Given the description of an element on the screen output the (x, y) to click on. 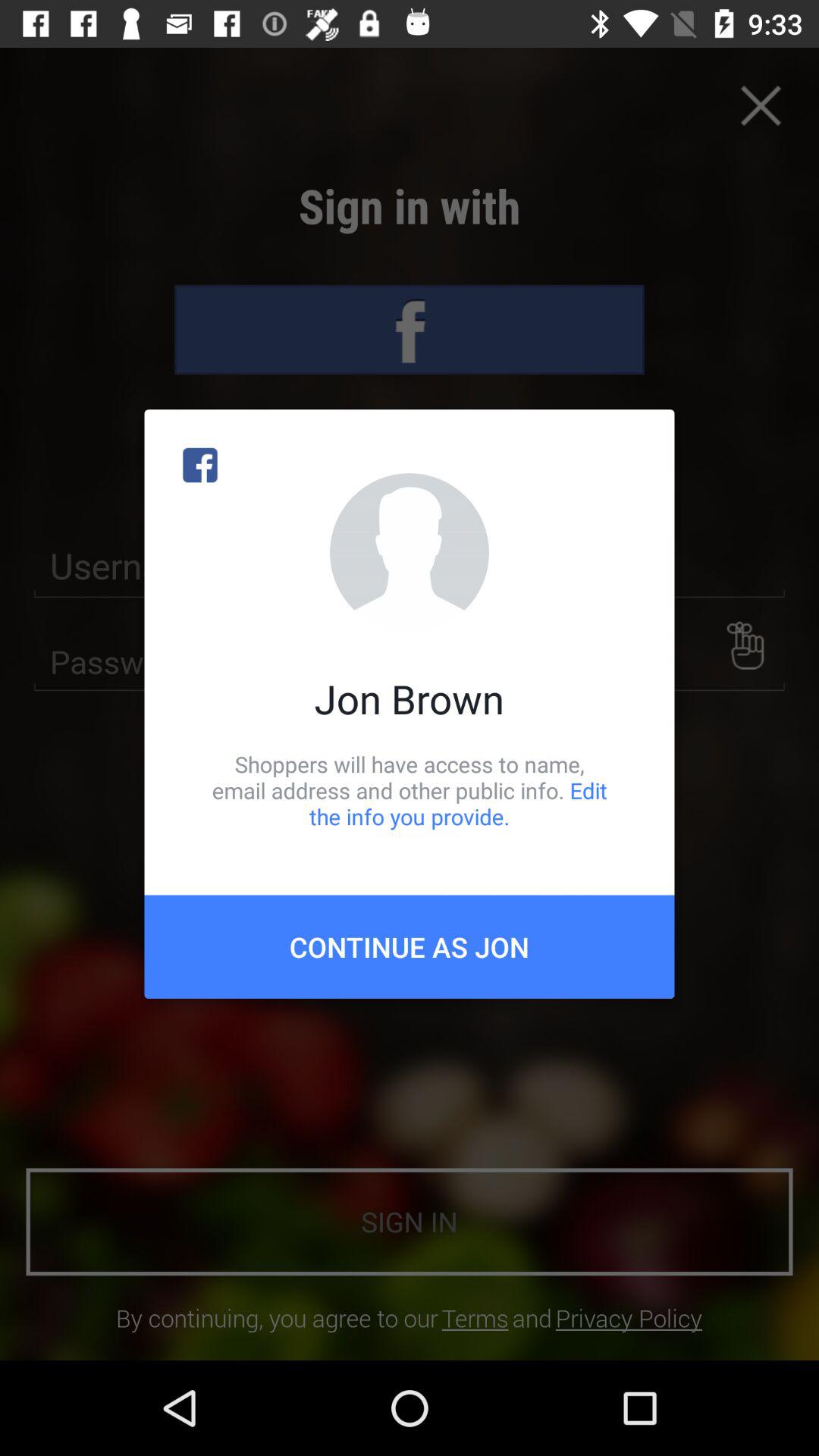
scroll to the continue as jon icon (409, 946)
